Given the description of an element on the screen output the (x, y) to click on. 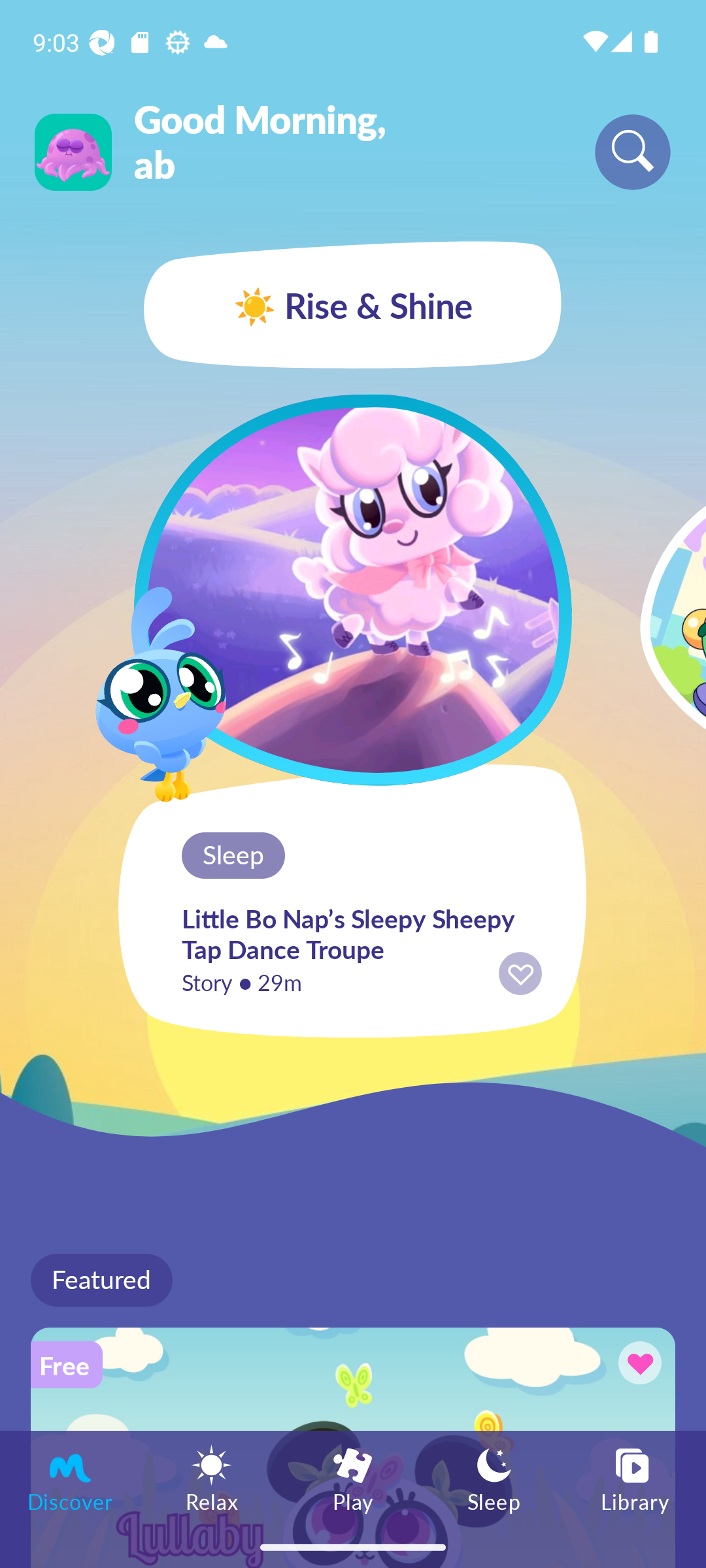
Search (632, 151)
action (520, 973)
Button (636, 1365)
Relax (211, 1478)
Play (352, 1478)
Sleep (493, 1478)
Library (635, 1478)
